Given the description of an element on the screen output the (x, y) to click on. 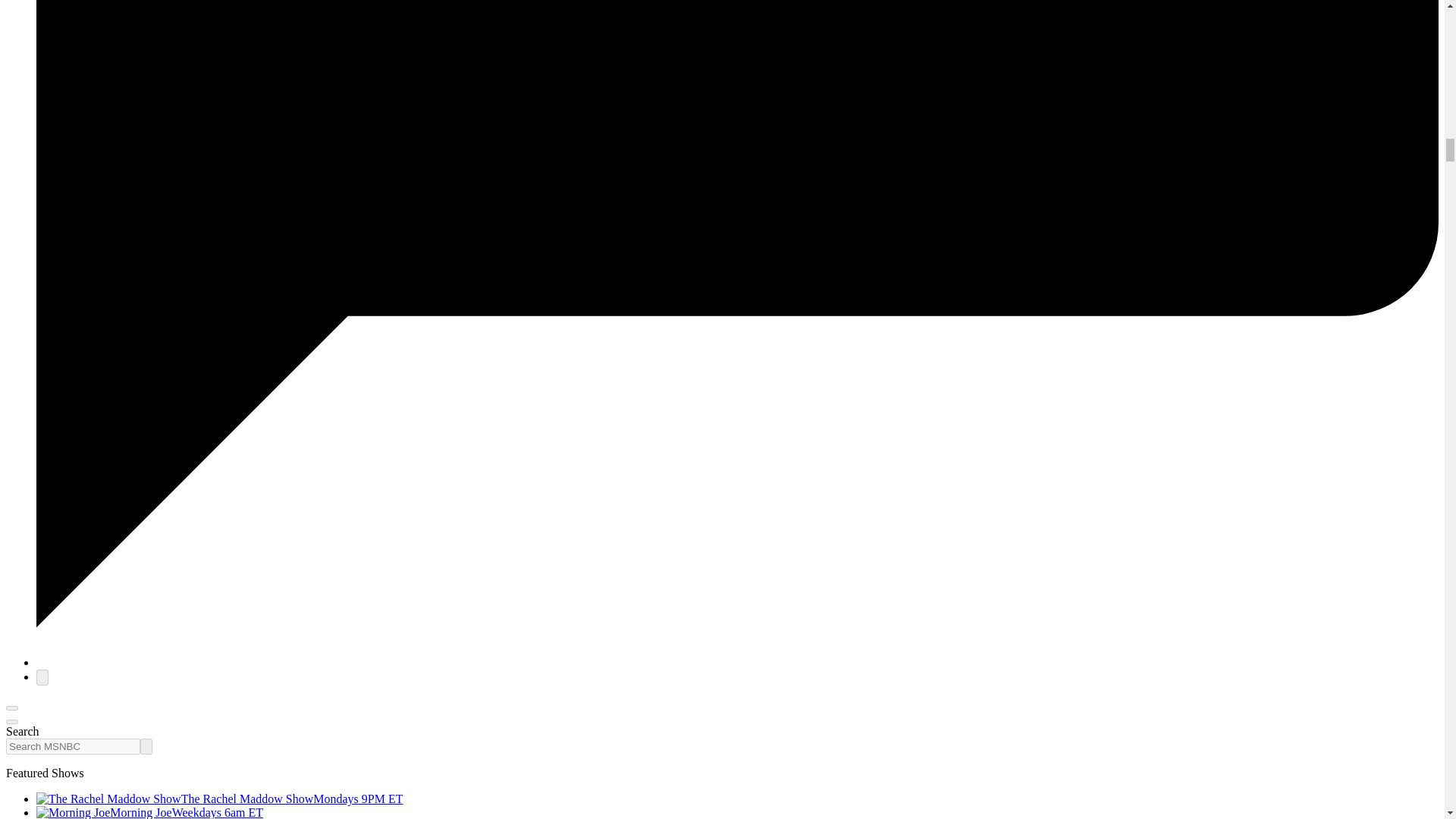
Morning JoeWeekdays 6am ET (149, 812)
The Rachel Maddow ShowMondays 9PM ET (219, 798)
Search (145, 746)
